Given the description of an element on the screen output the (x, y) to click on. 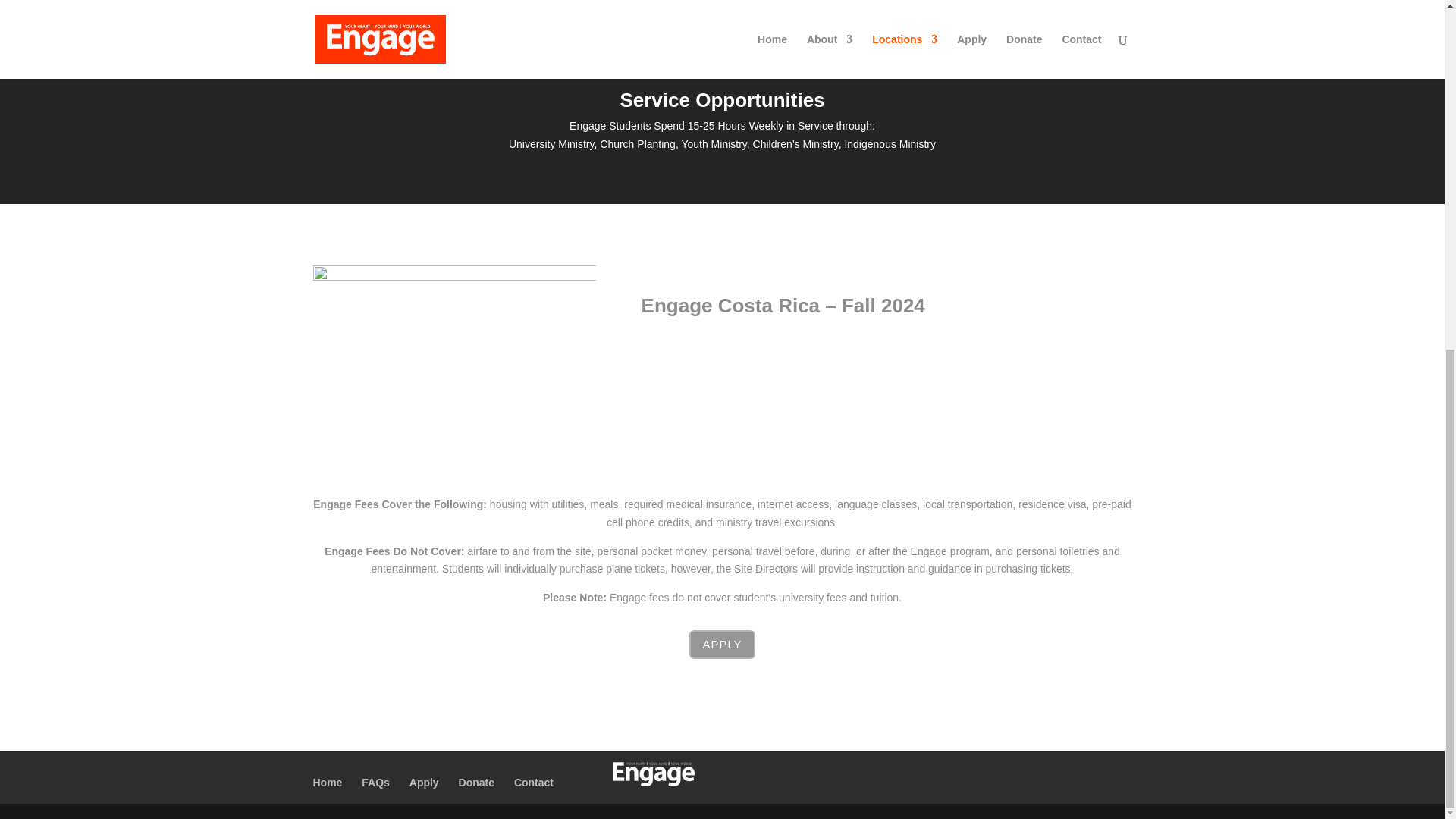
Follow on Facebook (1044, 711)
Follow on Instagram (1105, 711)
Follow on Twitter (1074, 711)
